Given the description of an element on the screen output the (x, y) to click on. 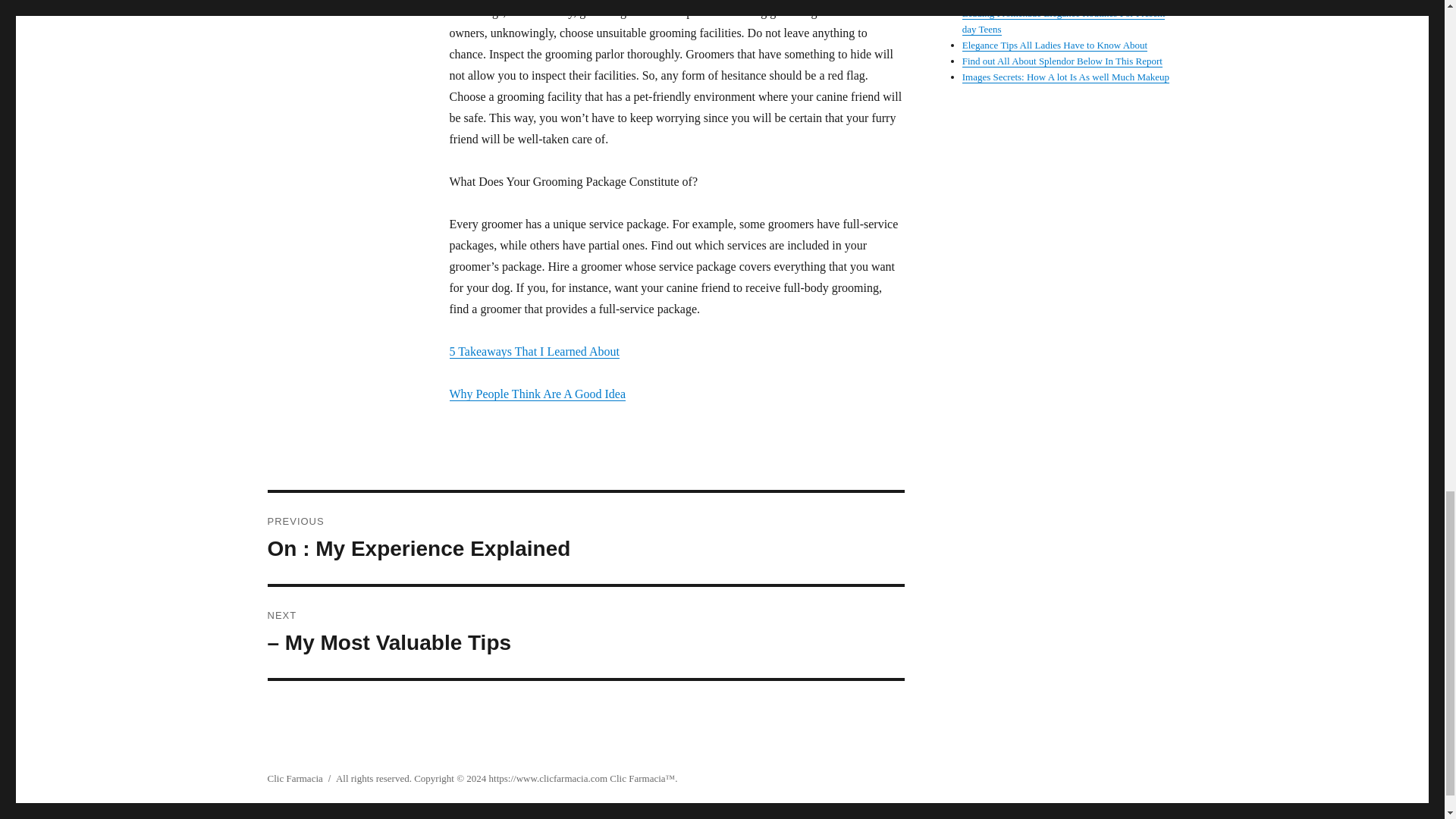
Clic Farmacia (637, 778)
Clic Farmacia (293, 778)
Why People Think Are A Good Idea (537, 393)
5 Takeaways That I Learned About (533, 350)
Leading Promenade Elegance Routines For Present day Teens (1064, 21)
Images Secrets: How A lot Is As well Much Makeup (1065, 76)
Find out All About Splendor Below In This Report (1061, 60)
Splendor Tips Made Simple In This Write-up (1051, 1)
Elegance Tips All Ladies Have to Know About (585, 538)
